Given the description of an element on the screen output the (x, y) to click on. 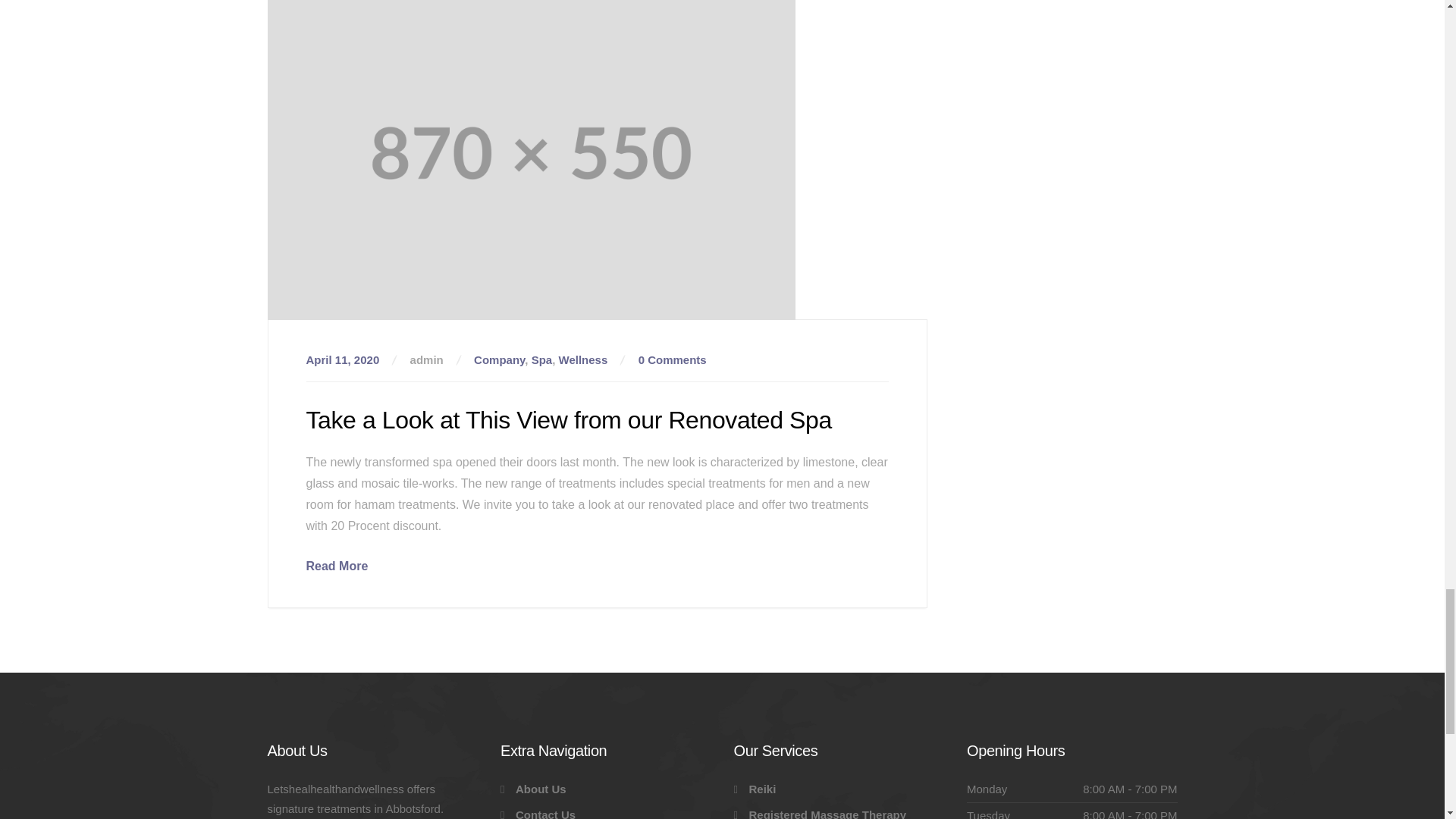
Take a Look at This View from our Renovated Spa (336, 565)
